Given the description of an element on the screen output the (x, y) to click on. 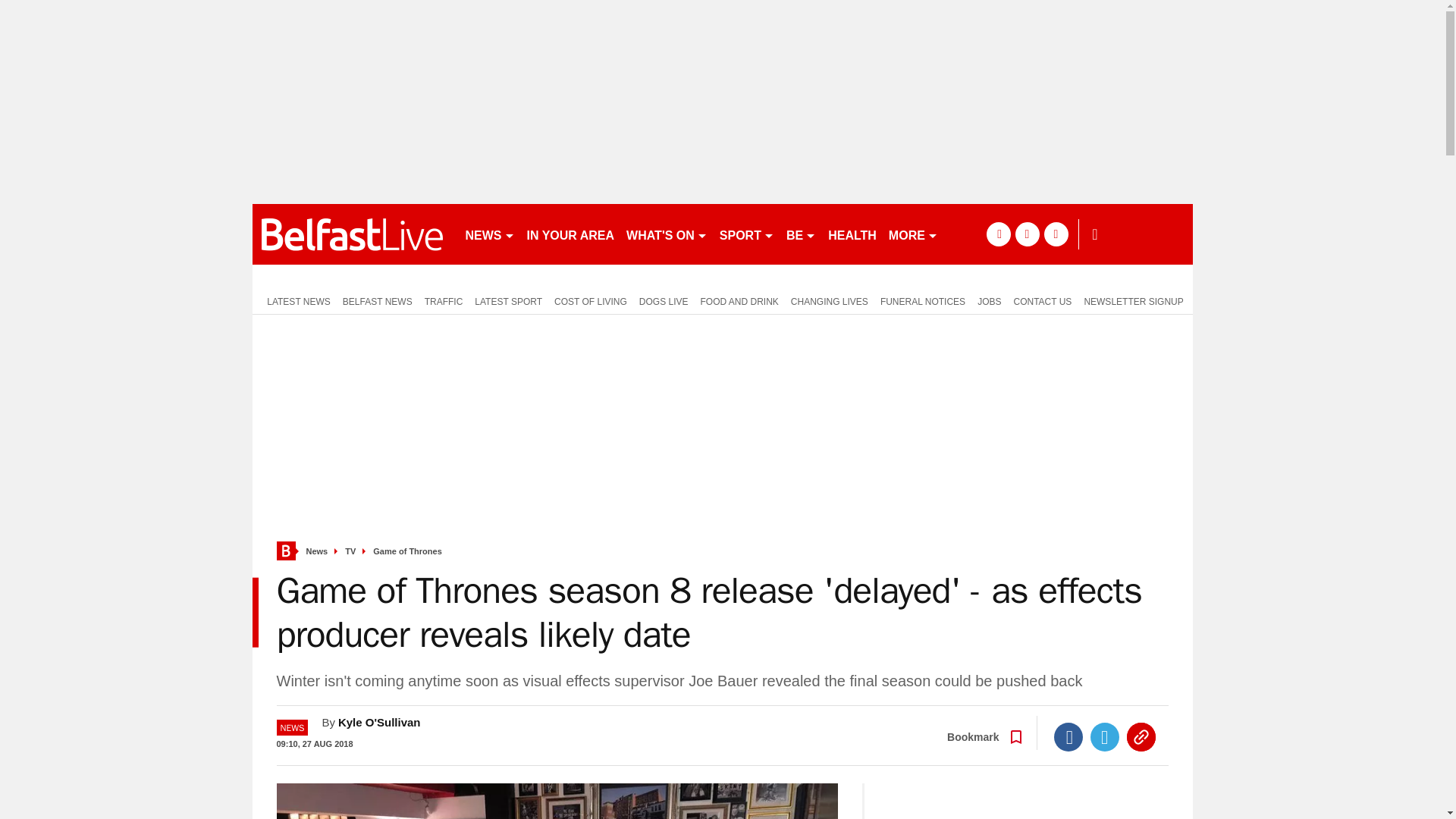
Twitter (1104, 736)
belfastlive (351, 233)
facebook (997, 233)
WHAT'S ON (666, 233)
twitter (1026, 233)
IN YOUR AREA (569, 233)
NEWS (490, 233)
Facebook (1068, 736)
instagram (1055, 233)
SPORT (746, 233)
